Given the description of an element on the screen output the (x, y) to click on. 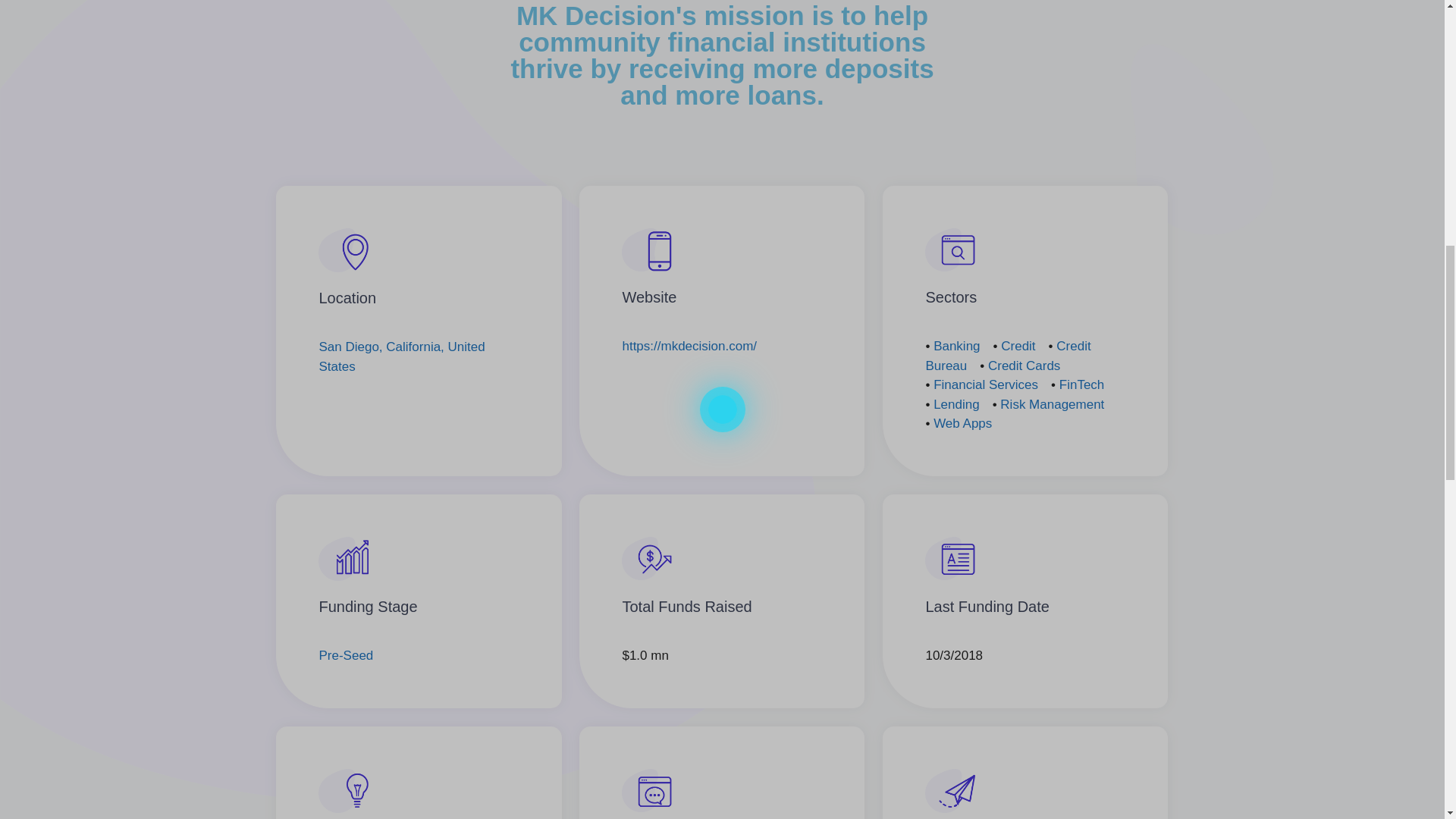
Web Apps (962, 423)
Credit Bureau (1007, 356)
Pre-Seed (345, 655)
San Diego, California, United States (401, 356)
Credit Cards (1023, 365)
Credit (1018, 345)
Lending (956, 404)
Risk Management (1051, 404)
Financial Services (985, 384)
Banking (956, 345)
